Given the description of an element on the screen output the (x, y) to click on. 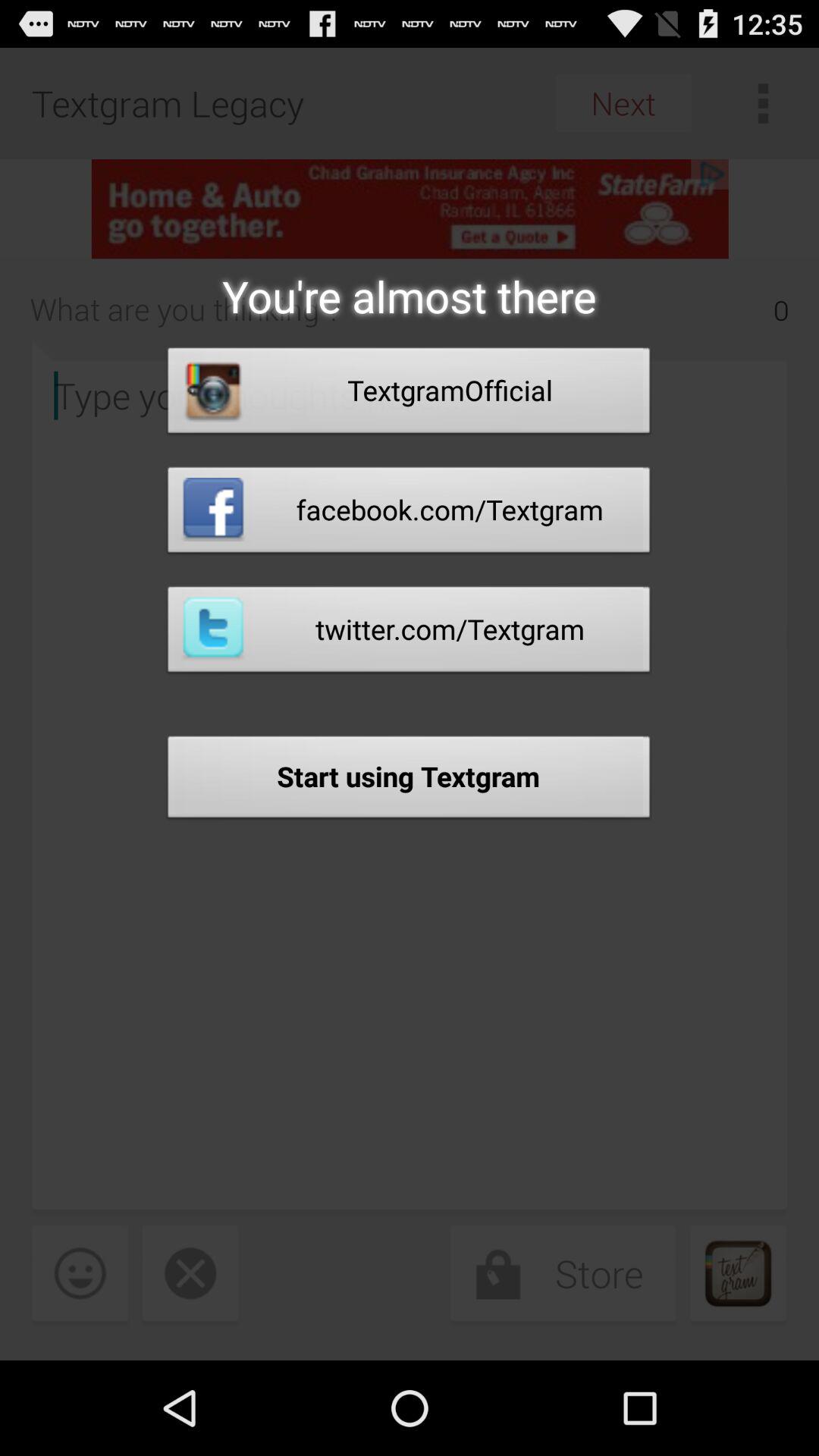
select item above facebook.com/textgram (409, 394)
